Given the description of an element on the screen output the (x, y) to click on. 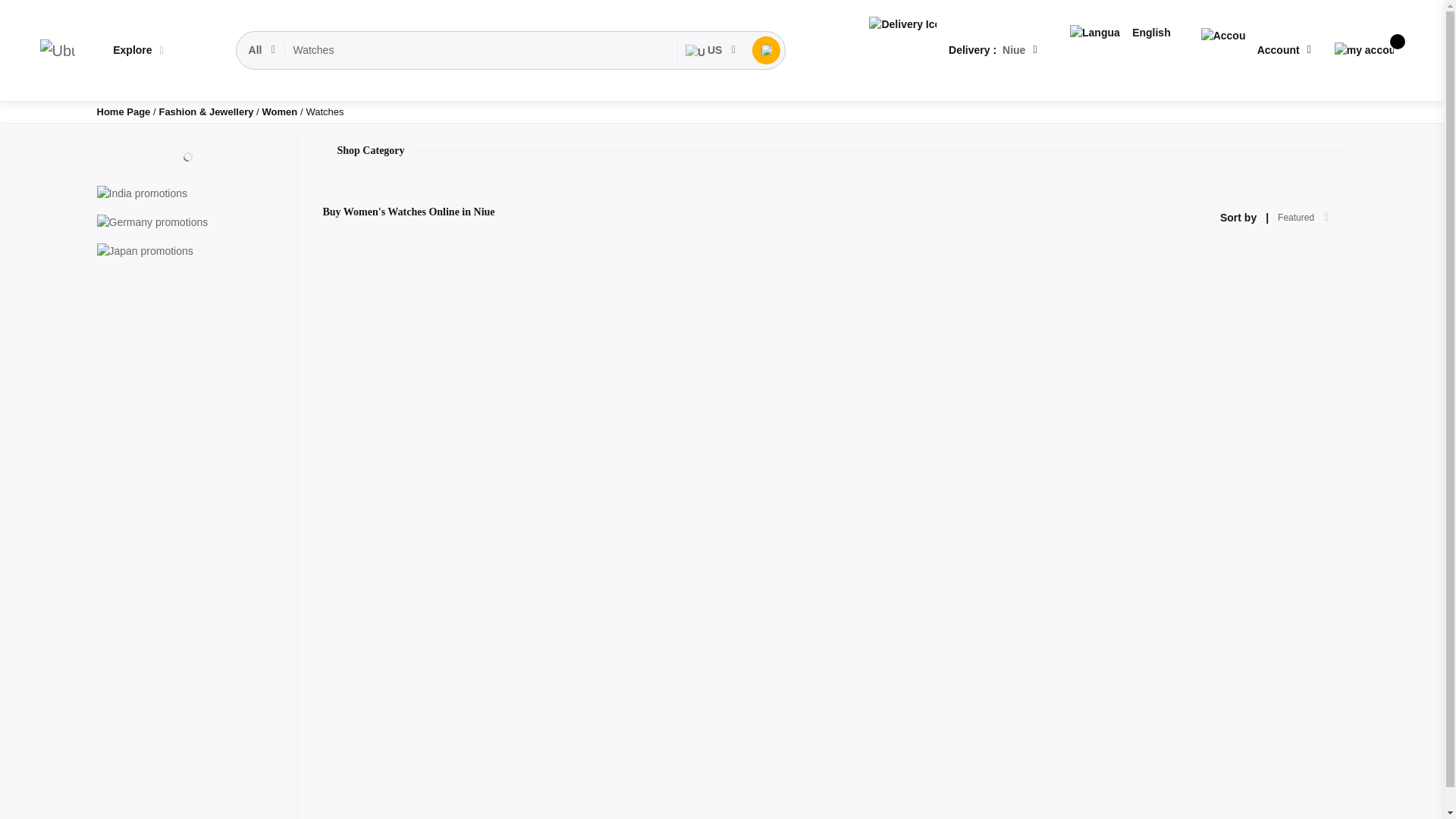
Ubuy (57, 50)
US (711, 50)
Home Page (124, 111)
Watches (481, 49)
Cart (1364, 49)
All (263, 50)
Watches (481, 49)
Home Page (124, 111)
